Given the description of an element on the screen output the (x, y) to click on. 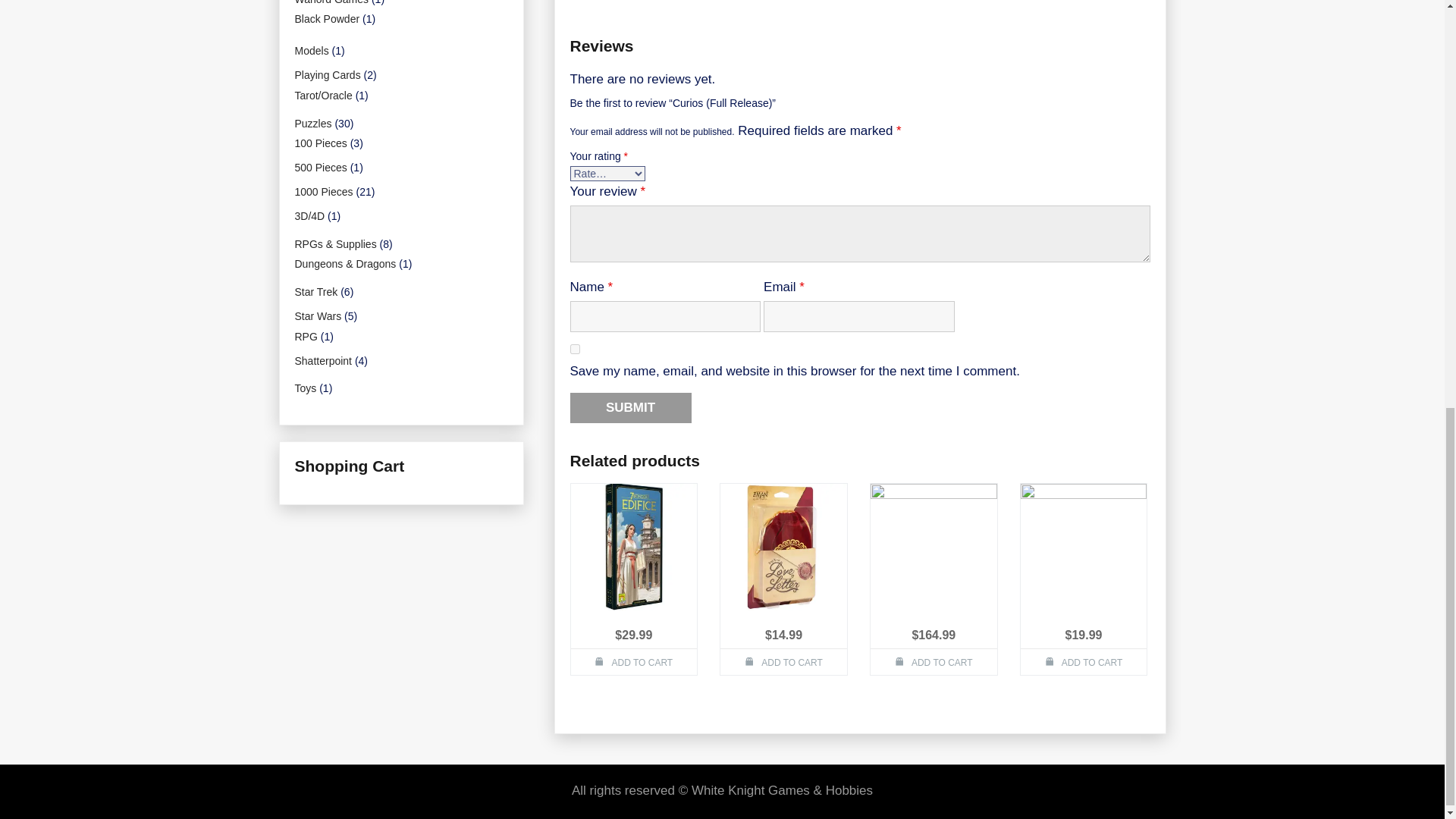
Submit (630, 408)
ADD TO CART (783, 661)
Submit (630, 408)
ADD TO CART (633, 661)
yes (574, 348)
ADD TO CART (1083, 661)
ADD TO CART (933, 661)
